Given the description of an element on the screen output the (x, y) to click on. 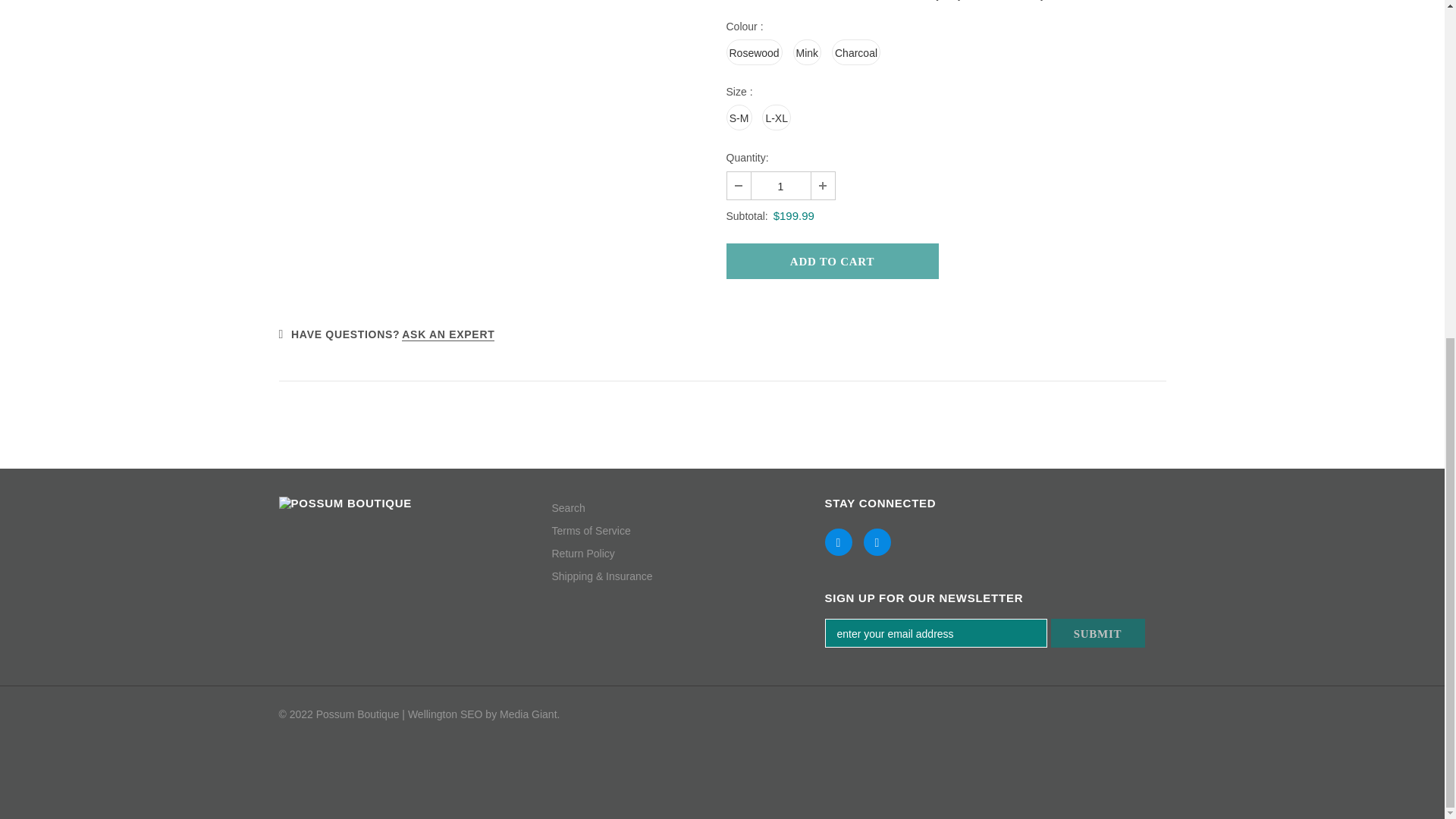
Submit (1097, 633)
Search (568, 507)
1 (780, 185)
Add to cart (832, 261)
Terms of Service (590, 530)
Ask An Expert (448, 334)
